Given the description of an element on the screen output the (x, y) to click on. 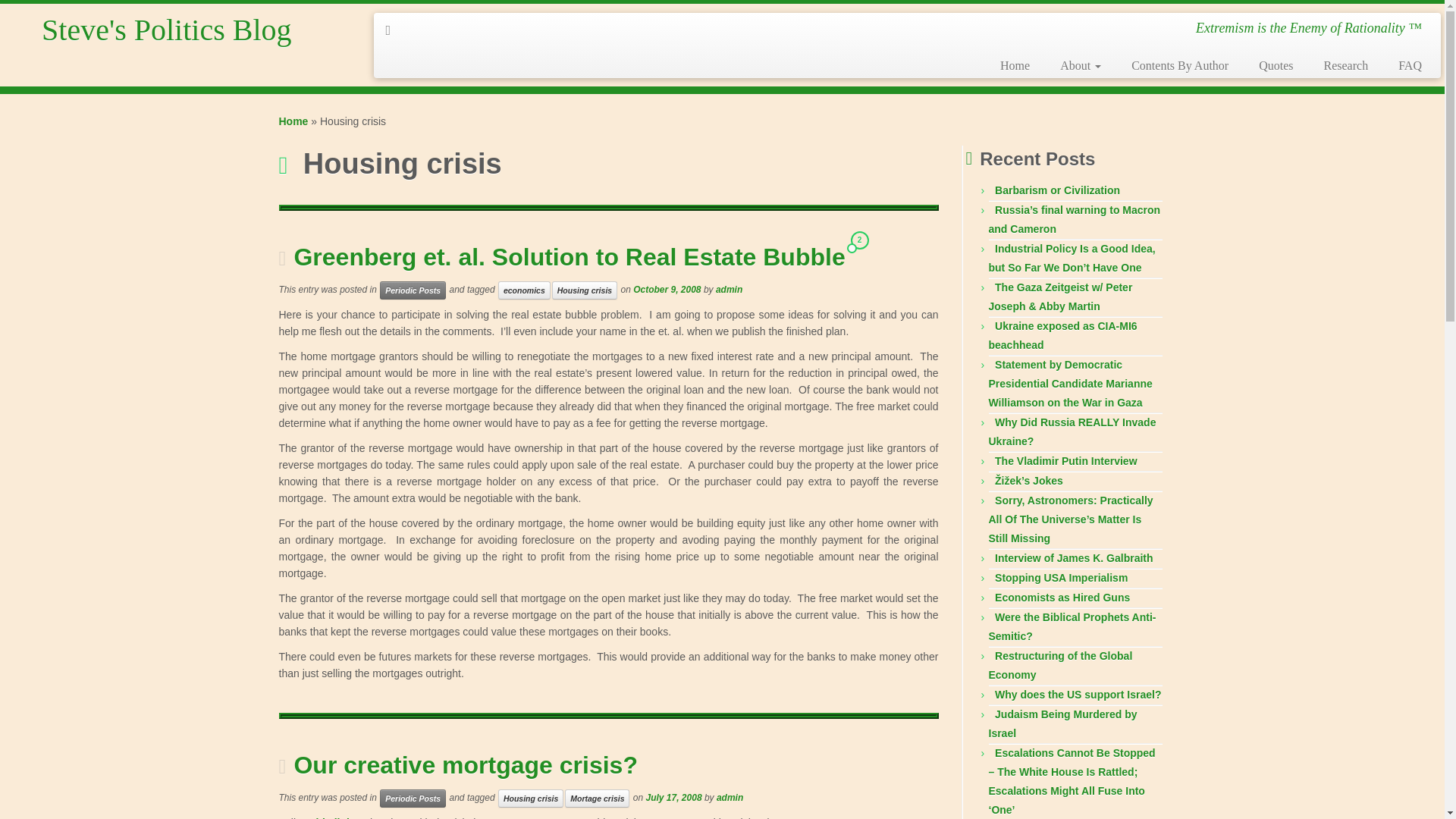
Home (293, 121)
Steve's Politics Blog (293, 121)
Periodic Posts (412, 798)
4:25 pm (666, 289)
3:58 pm (673, 797)
View all posts in Periodic Posts (412, 798)
Why Did Russia REALLY Invade Ukraine? (1072, 431)
Home (1015, 65)
Ukraine exposed as CIA-MI6 beachhead (1062, 335)
Housing crisis (530, 798)
Steve's Politics Blog (166, 30)
Periodic Posts (412, 290)
FAQ (1402, 65)
Quotes (1275, 65)
